Given the description of an element on the screen output the (x, y) to click on. 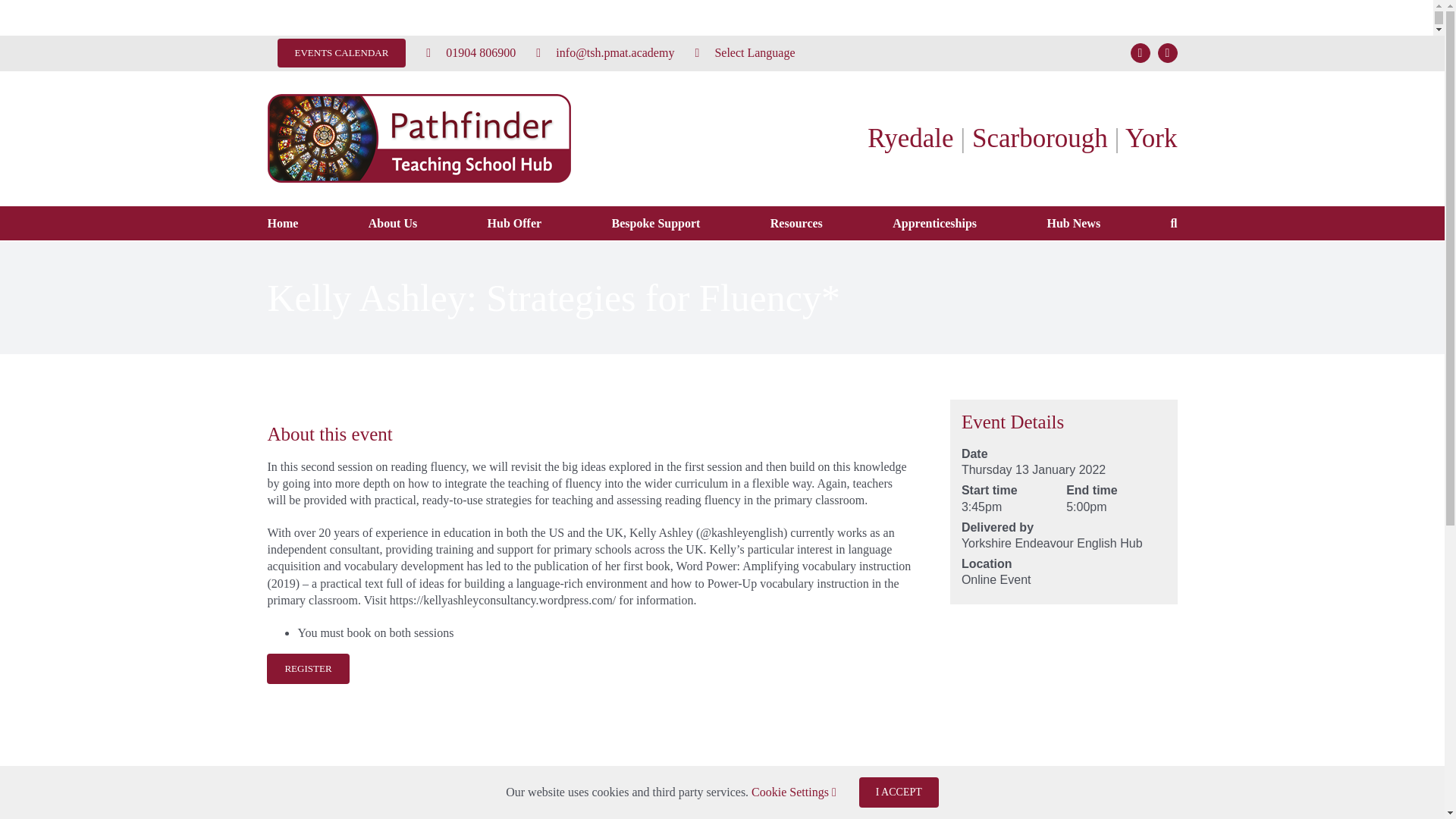
LinkedIn (831, 808)
Facebook (777, 808)
01904 806900 (470, 52)
WhatsApp (857, 808)
Email (885, 808)
Select Language (744, 52)
Twitter (805, 808)
EVENTS CALENDAR (340, 52)
Search (1173, 223)
